Given the description of an element on the screen output the (x, y) to click on. 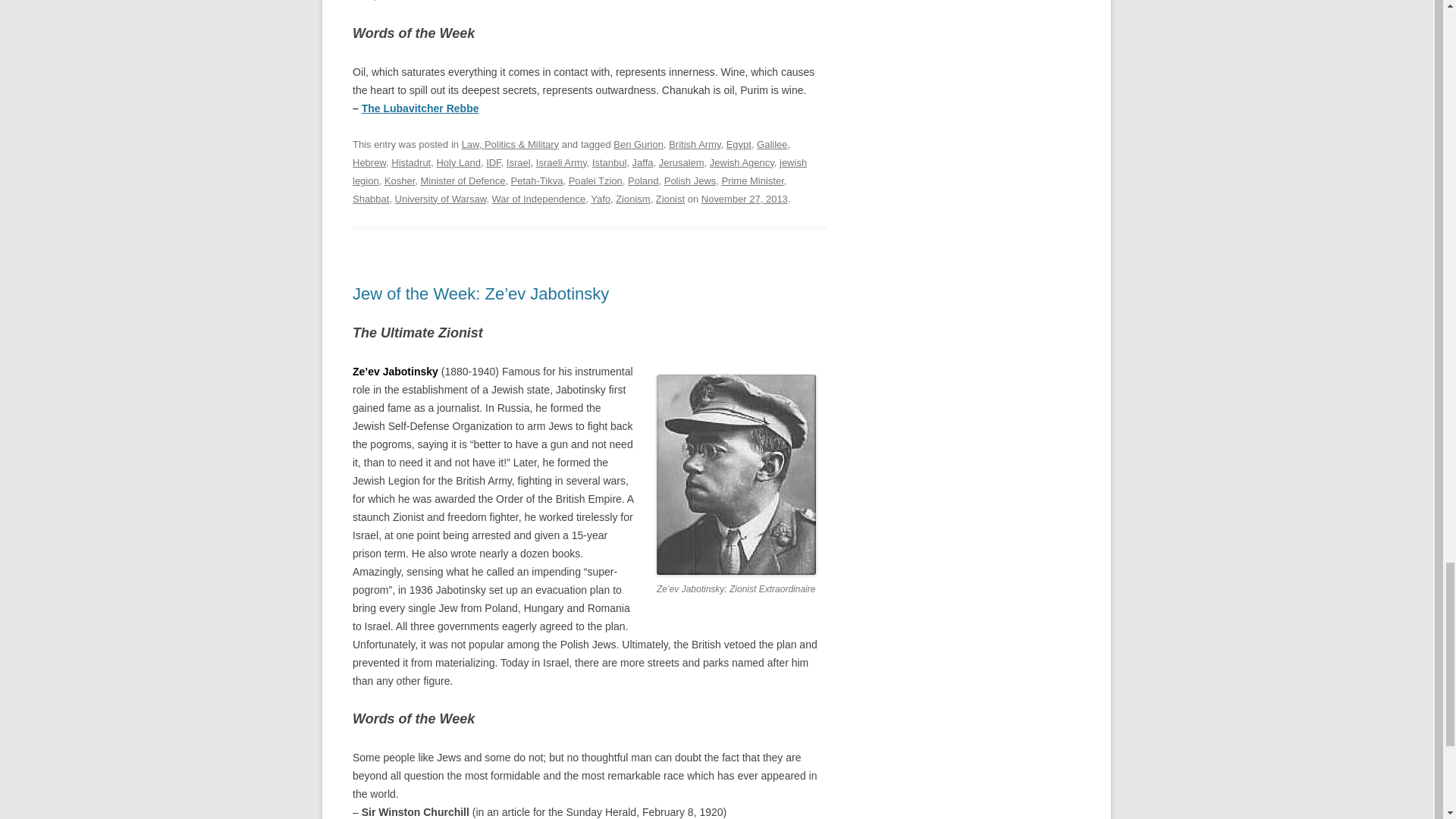
Egypt (738, 143)
Hebrew (368, 162)
4:45 pm (744, 198)
British Army (694, 143)
Ben Gurion (637, 143)
The Lubavitcher Rebbe (420, 108)
Galilee (772, 143)
